Given the description of an element on the screen output the (x, y) to click on. 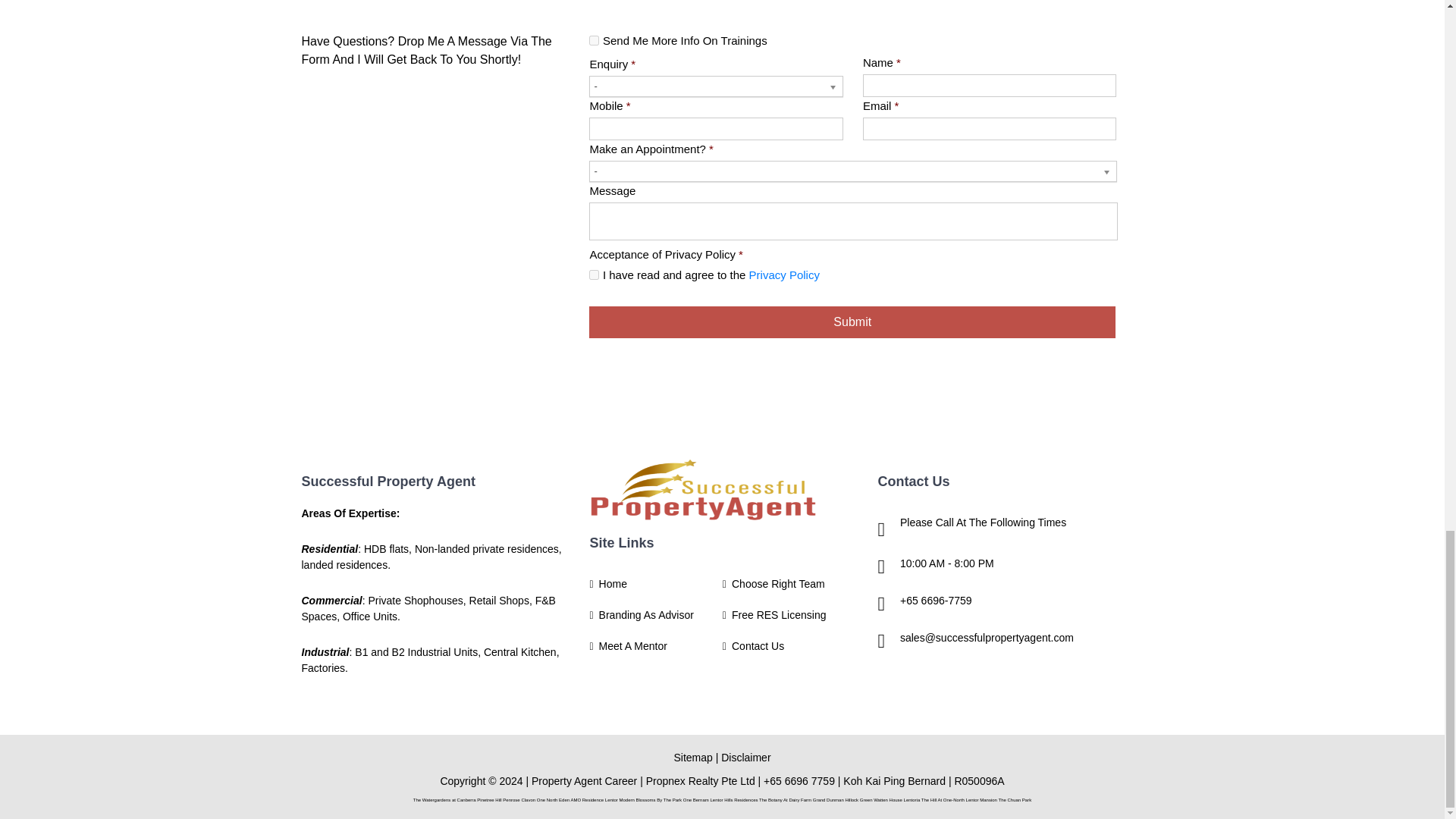
Yes (593, 40)
Submit (852, 322)
- (716, 86)
